Given the description of an element on the screen output the (x, y) to click on. 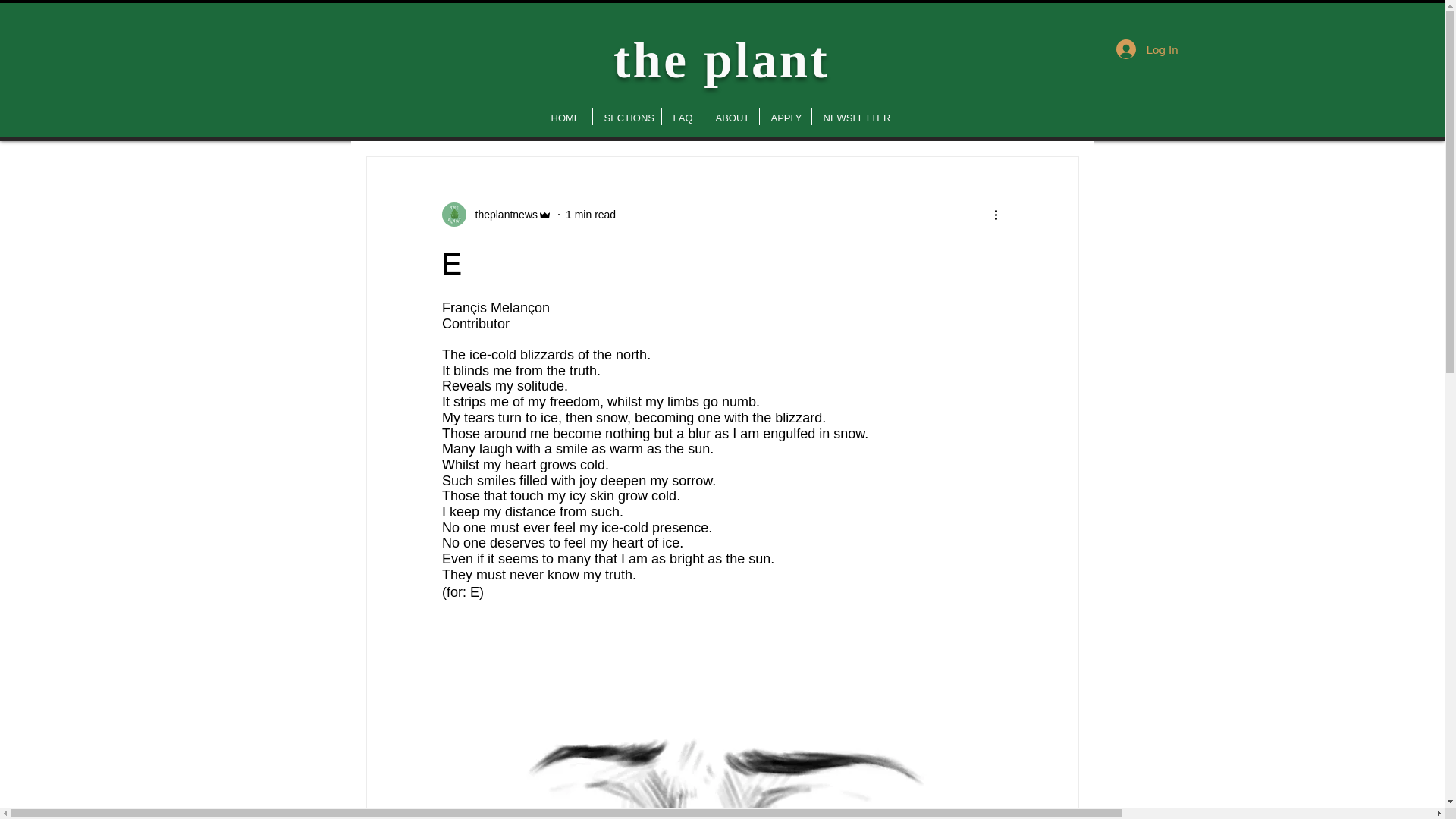
HOME (566, 117)
Log In (1147, 49)
theplantnews (501, 213)
ABOUT (730, 117)
FAQ (682, 117)
theplantnews (496, 214)
the plant (720, 59)
APPLY (785, 117)
NEWSLETTER (851, 117)
1 min read (590, 214)
